Given the description of an element on the screen output the (x, y) to click on. 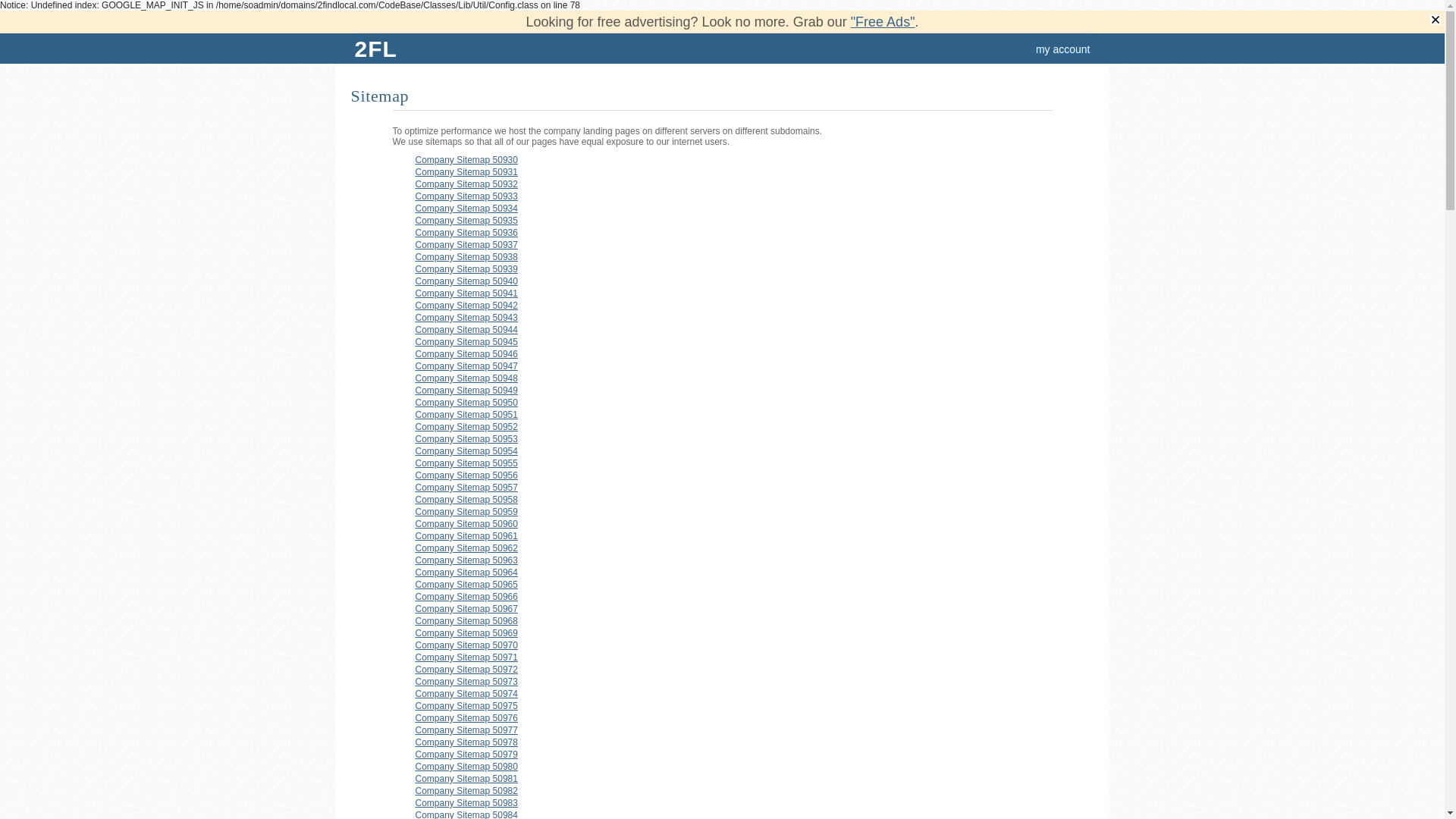
Company Sitemap 50979 Element type: text (466, 754)
Company Sitemap 50930 Element type: text (466, 159)
Company Sitemap 50980 Element type: text (466, 766)
Company Sitemap 50937 Element type: text (466, 244)
Company Sitemap 50932 Element type: text (466, 183)
Company Sitemap 50953 Element type: text (466, 438)
Company Sitemap 50956 Element type: text (466, 475)
Company Sitemap 50931 Element type: text (466, 171)
Company Sitemap 50944 Element type: text (466, 329)
Company Sitemap 50977 Element type: text (466, 729)
Company Sitemap 50978 Element type: text (466, 742)
Company Sitemap 50963 Element type: text (466, 560)
Company Sitemap 50964 Element type: text (466, 572)
Company Sitemap 50949 Element type: text (466, 390)
"Free Ads" Element type: text (882, 21)
Company Sitemap 50958 Element type: text (466, 499)
Company Sitemap 50965 Element type: text (466, 584)
Company Sitemap 50935 Element type: text (466, 220)
Company Sitemap 50934 Element type: text (466, 208)
Company Sitemap 50948 Element type: text (466, 378)
Company Sitemap 50974 Element type: text (466, 693)
Company Sitemap 50976 Element type: text (466, 717)
Company Sitemap 50968 Element type: text (466, 620)
my account Element type: text (1062, 49)
Company Sitemap 50962 Element type: text (466, 547)
Company Sitemap 50966 Element type: text (466, 596)
Company Sitemap 50938 Element type: text (466, 256)
Company Sitemap 50952 Element type: text (466, 426)
Company Sitemap 50940 Element type: text (466, 281)
Company Sitemap 50945 Element type: text (466, 341)
Company Sitemap 50946 Element type: text (466, 353)
Company Sitemap 50983 Element type: text (466, 802)
Company Sitemap 50981 Element type: text (466, 778)
Company Sitemap 50982 Element type: text (466, 790)
Company Sitemap 50957 Element type: text (466, 487)
Company Sitemap 50939 Element type: text (466, 268)
Company Sitemap 50950 Element type: text (466, 402)
Company Sitemap 50942 Element type: text (466, 305)
Company Sitemap 50972 Element type: text (466, 669)
Company Sitemap 50959 Element type: text (466, 511)
Company Sitemap 50969 Element type: text (466, 632)
Company Sitemap 50961 Element type: text (466, 535)
Company Sitemap 50970 Element type: text (466, 645)
Company Sitemap 50960 Element type: text (466, 523)
Company Sitemap 50936 Element type: text (466, 232)
Company Sitemap 50973 Element type: text (466, 681)
Company Sitemap 50943 Element type: text (466, 317)
Company Sitemap 50954 Element type: text (466, 450)
Company Sitemap 50955 Element type: text (466, 463)
Company Sitemap 50941 Element type: text (466, 293)
Company Sitemap 50951 Element type: text (466, 414)
Company Sitemap 50975 Element type: text (466, 705)
Company Sitemap 50933 Element type: text (466, 196)
Company Sitemap 50947 Element type: text (466, 365)
Company Sitemap 50971 Element type: text (466, 657)
Company Sitemap 50967 Element type: text (466, 608)
